Given the description of an element on the screen output the (x, y) to click on. 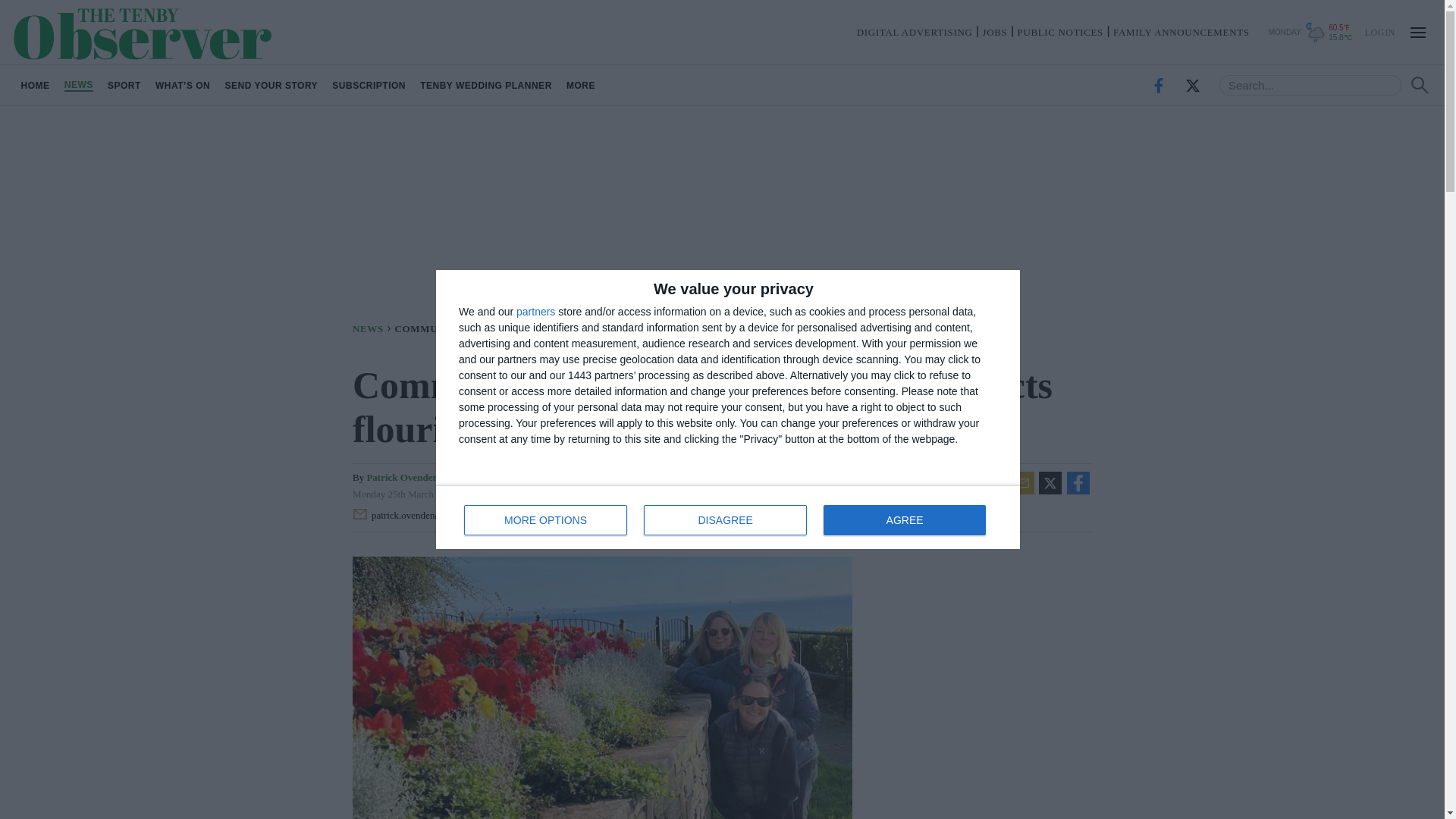
DISAGREE (724, 520)
SEND YOUR STORY (270, 85)
MORE OPTIONS (545, 520)
SPORT (124, 85)
SUBSCRIPTION (368, 85)
partners (535, 311)
NEWS (373, 328)
Patrick Ovenden (402, 477)
NEWS (78, 85)
MORE (580, 85)
FAMILY ANNOUNCEMENTS (1181, 32)
TENBY WEDDING PLANNER (727, 516)
HOME (486, 85)
AGREE (34, 85)
